Given the description of an element on the screen output the (x, y) to click on. 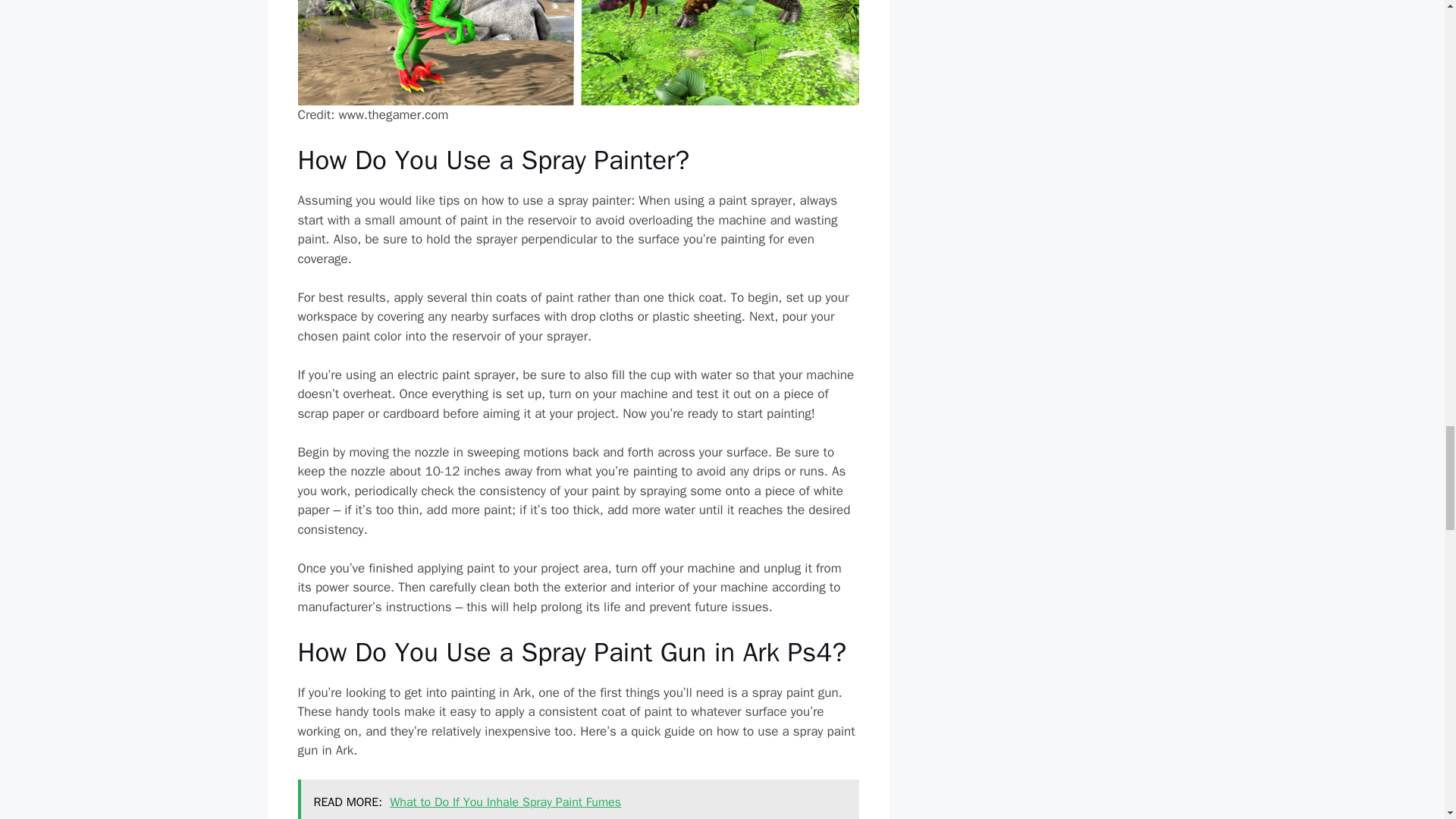
READ MORE:  What to Do If You Inhale Spray Paint Fumes (578, 799)
